Given the description of an element on the screen output the (x, y) to click on. 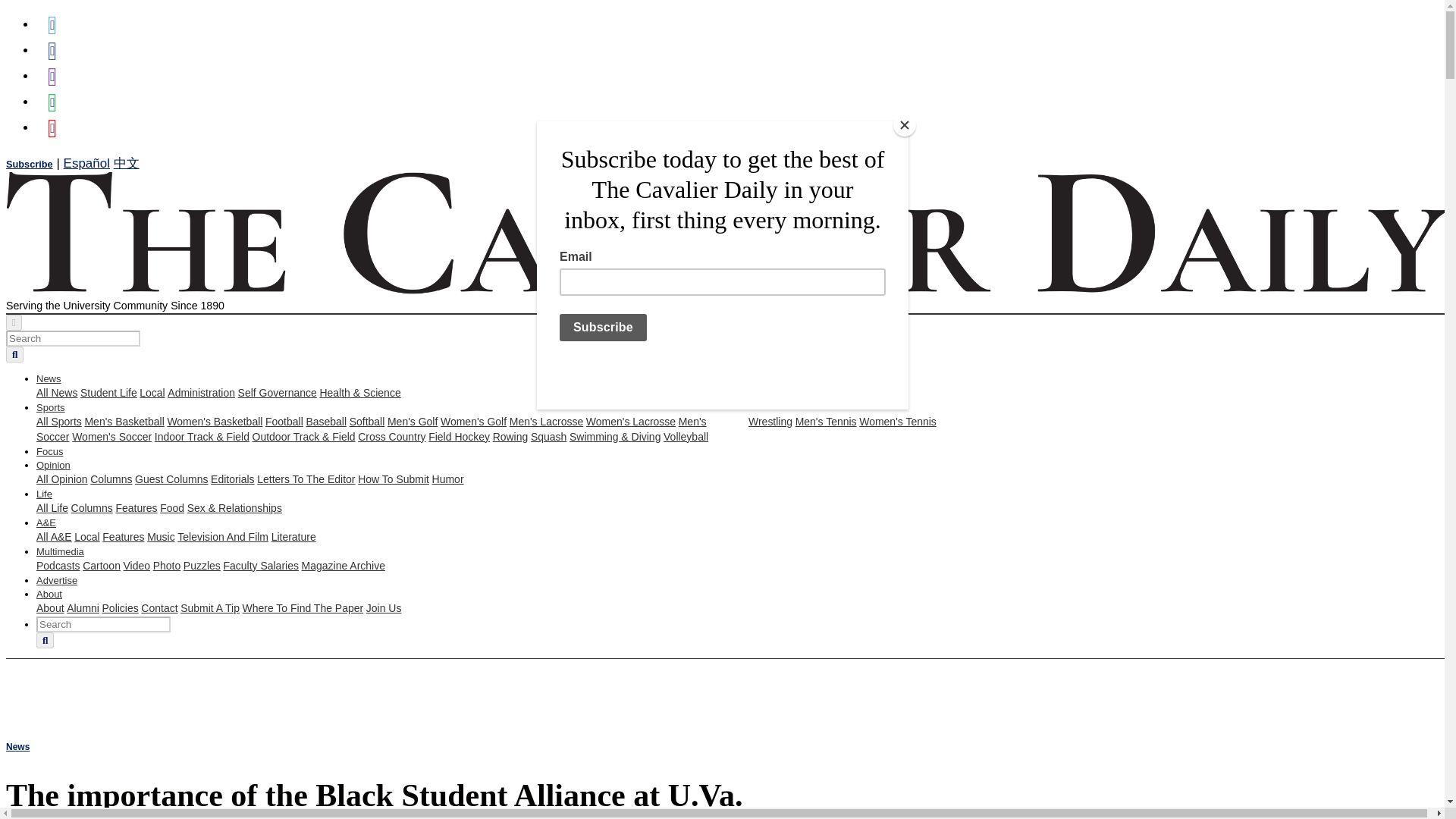
All Sports (58, 421)
Subscribe (28, 163)
Self Governance (277, 392)
All News (56, 392)
Squash (548, 436)
Field Hockey (458, 436)
Sports (50, 407)
Women'S Golf (473, 421)
Men'S Basketball (123, 421)
Cross Country (391, 436)
Softball (367, 421)
Football (283, 421)
Baseball (325, 421)
Men'S Golf (412, 421)
Rowing (510, 436)
